Given the description of an element on the screen output the (x, y) to click on. 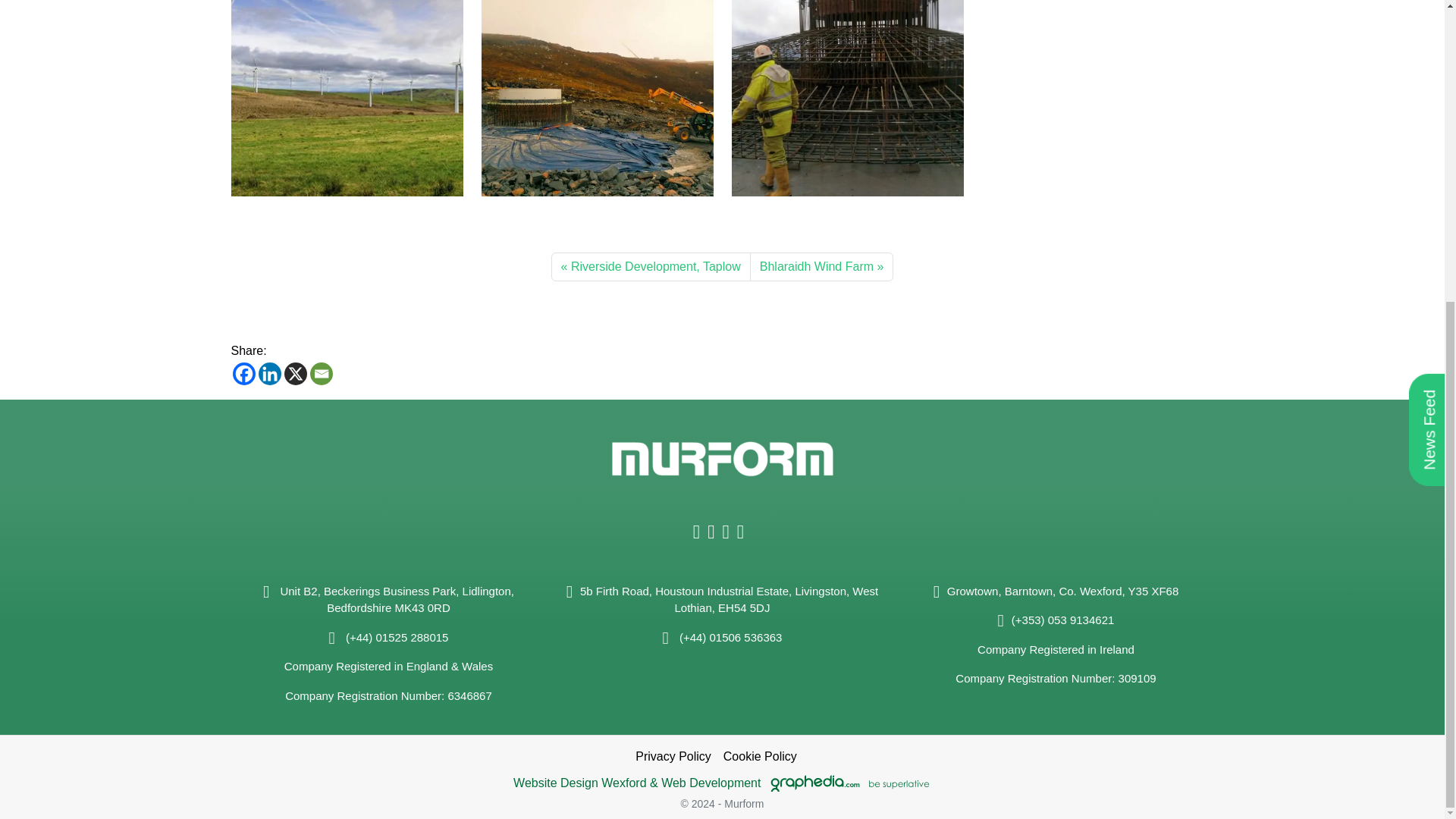
Linkedin (269, 373)
Email (319, 373)
Riverside Development, Taplow (651, 266)
X (294, 373)
Bhlaraidh Wind Farm (821, 266)
Facebook (242, 373)
